Given the description of an element on the screen output the (x, y) to click on. 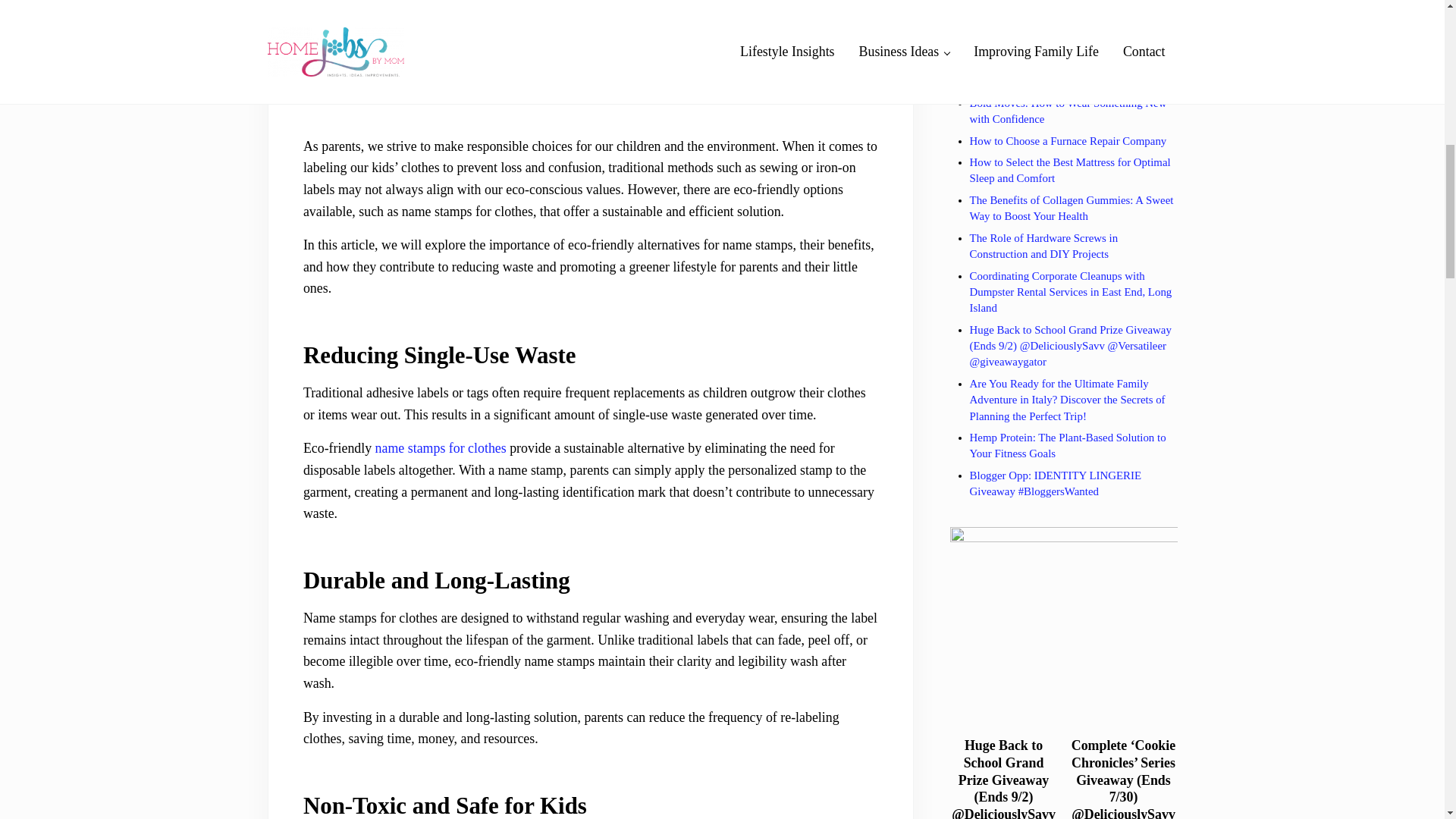
KRYSTLE COOK (422, 9)
name stamps for clothes (440, 447)
11 (386, 72)
